Given the description of an element on the screen output the (x, y) to click on. 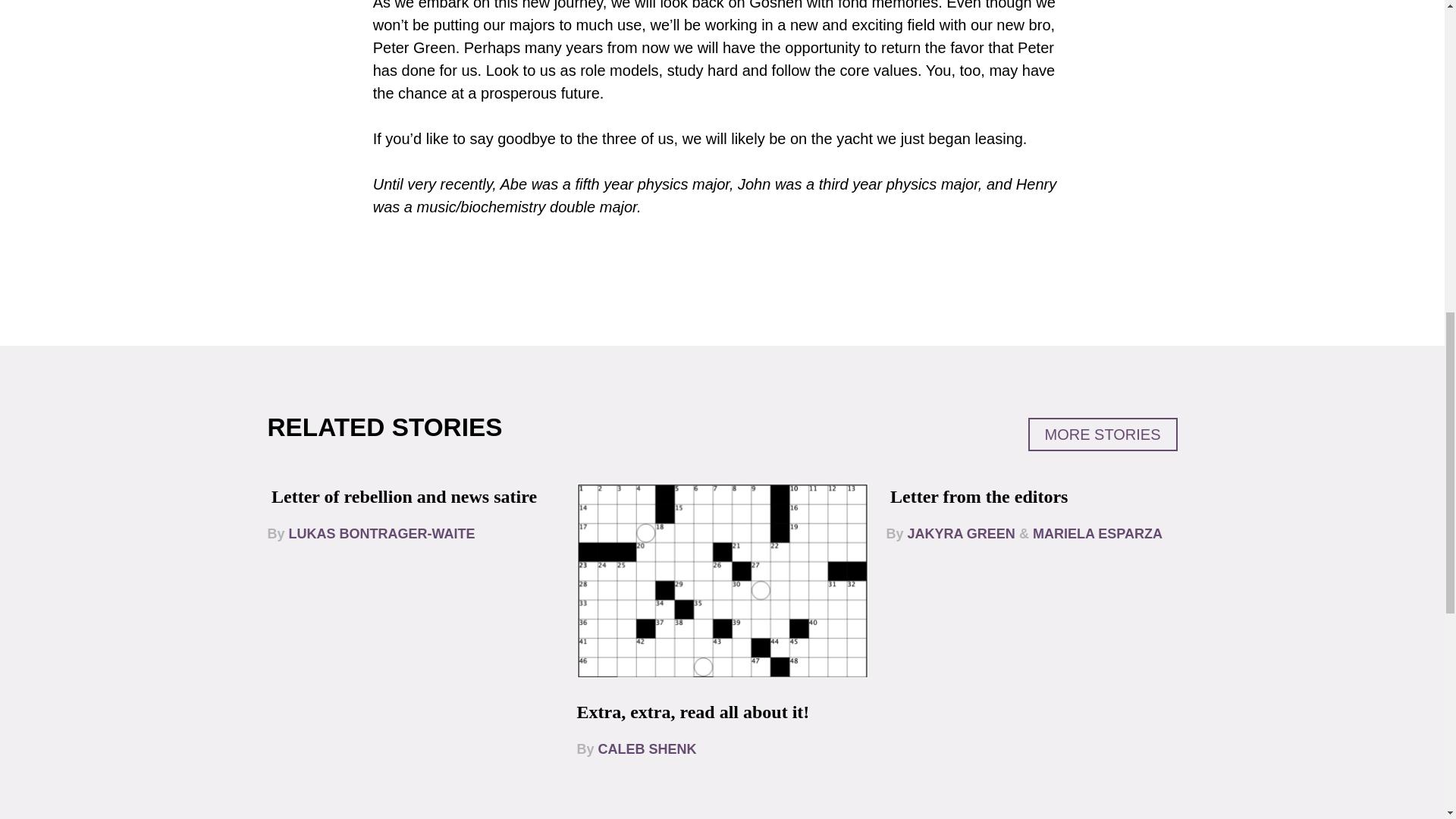
Extra, extra, read all about it! (692, 711)
LUKAS BONTRAGER-WAITE (382, 533)
JAKYRA GREEN (960, 533)
Letter from the editors (978, 496)
MARIELA ESPARZA (1096, 533)
MORE STORIES (1102, 434)
CALEB SHENK (647, 749)
Letter of rebellion and news satire (403, 496)
